Given the description of an element on the screen output the (x, y) to click on. 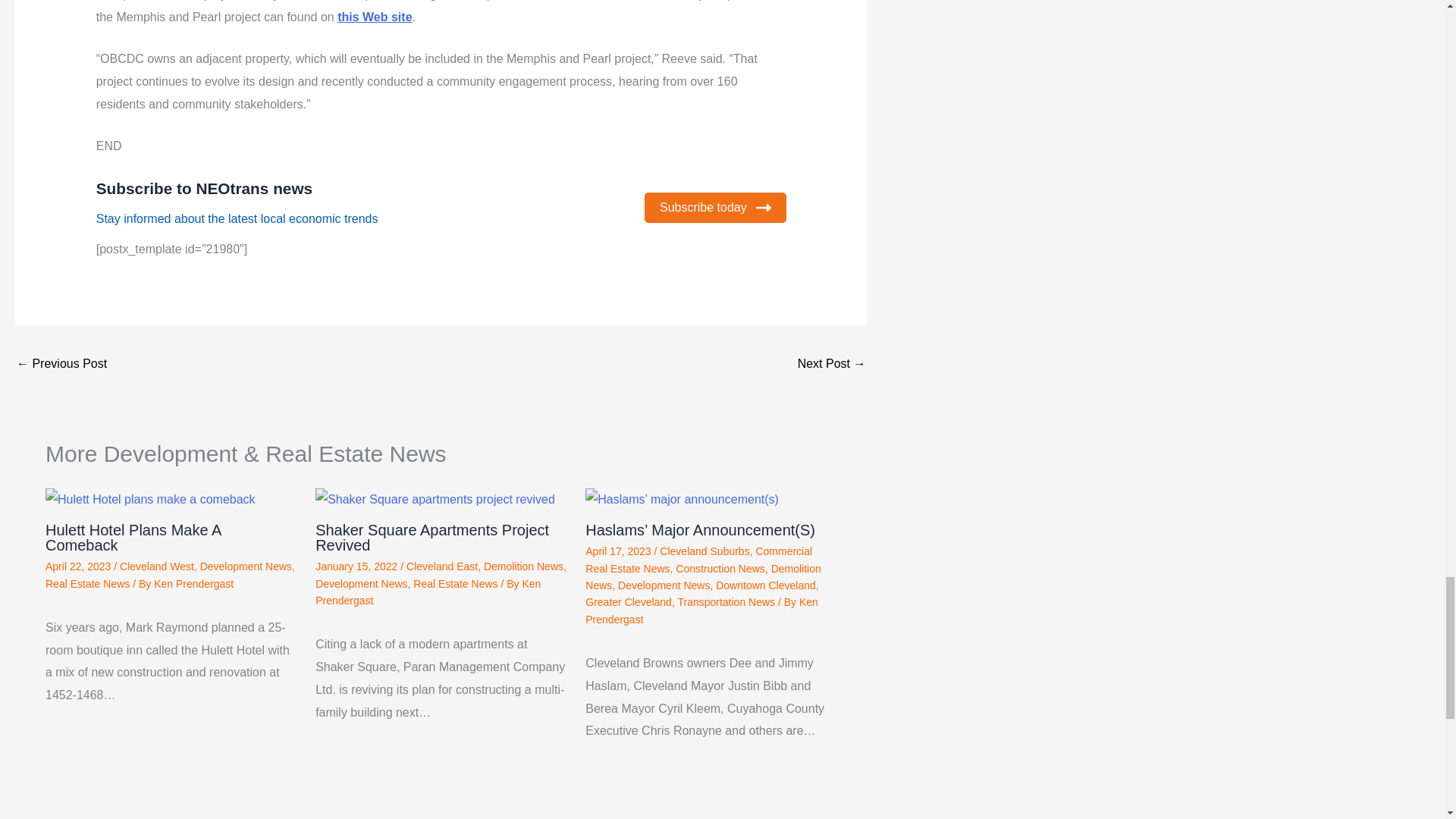
View all posts by Ken Prendergast (193, 583)
View all posts by Ken Prendergast (427, 592)
Ohio City buildings to be razed for Bridgeworks (61, 365)
Cleveland Thermal target of acquisition (831, 365)
View all posts by Ken Prendergast (701, 610)
